Given the description of an element on the screen output the (x, y) to click on. 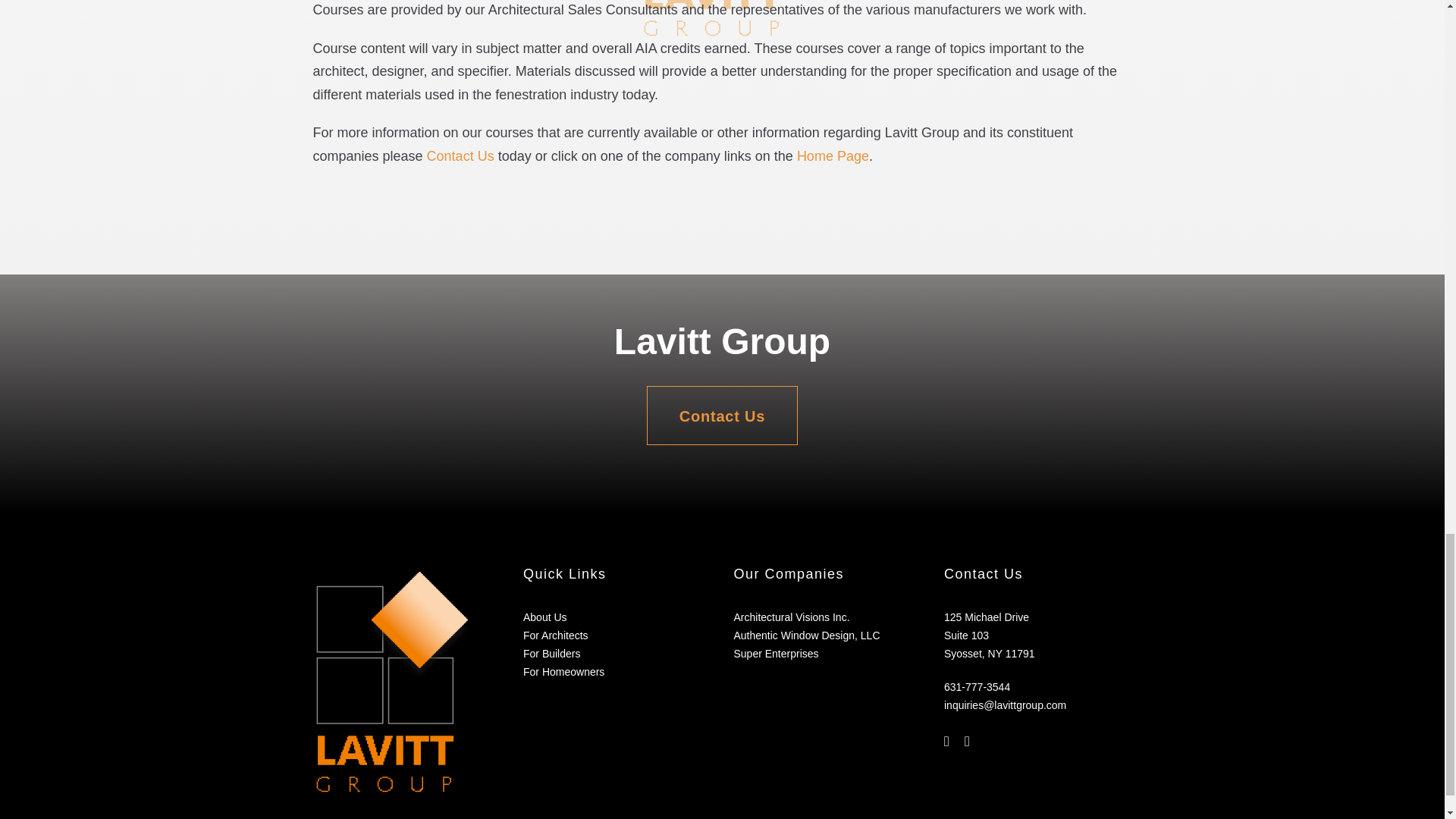
Contact Us (721, 415)
For Builders (550, 653)
For Architects (555, 635)
Contact Us (460, 155)
Architectural Visions Inc. (791, 616)
Super Enterprises (775, 653)
631-777-3544 (976, 686)
Home Page (832, 155)
About Us (544, 616)
For Homeowners (563, 671)
Authentic Window Design, LLC (806, 635)
